Given the description of an element on the screen output the (x, y) to click on. 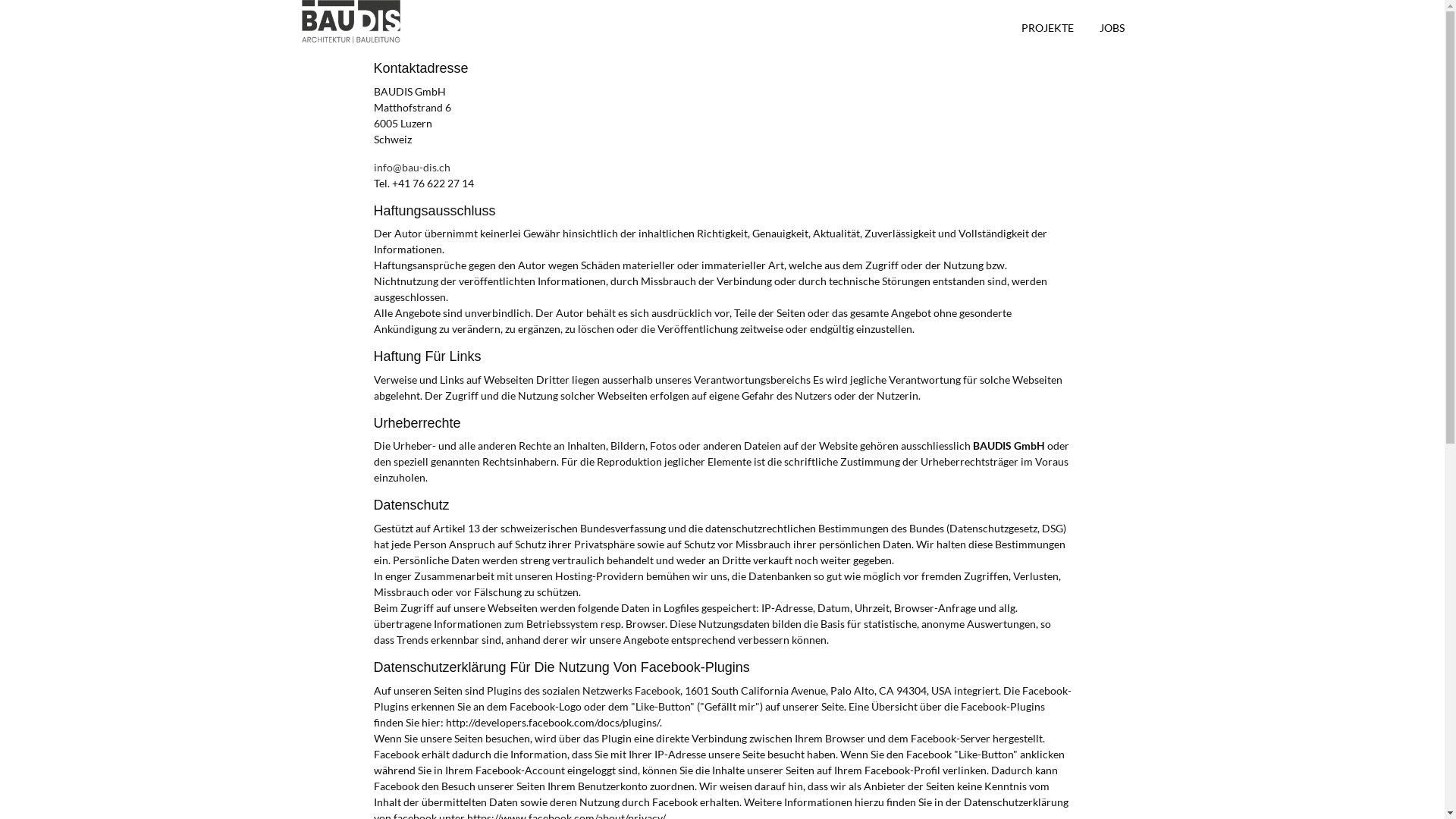
JOBS Element type: text (1110, 27)
info@bau-dis.ch Element type: text (411, 166)
PROJEKTE Element type: text (1047, 27)
